Given the description of an element on the screen output the (x, y) to click on. 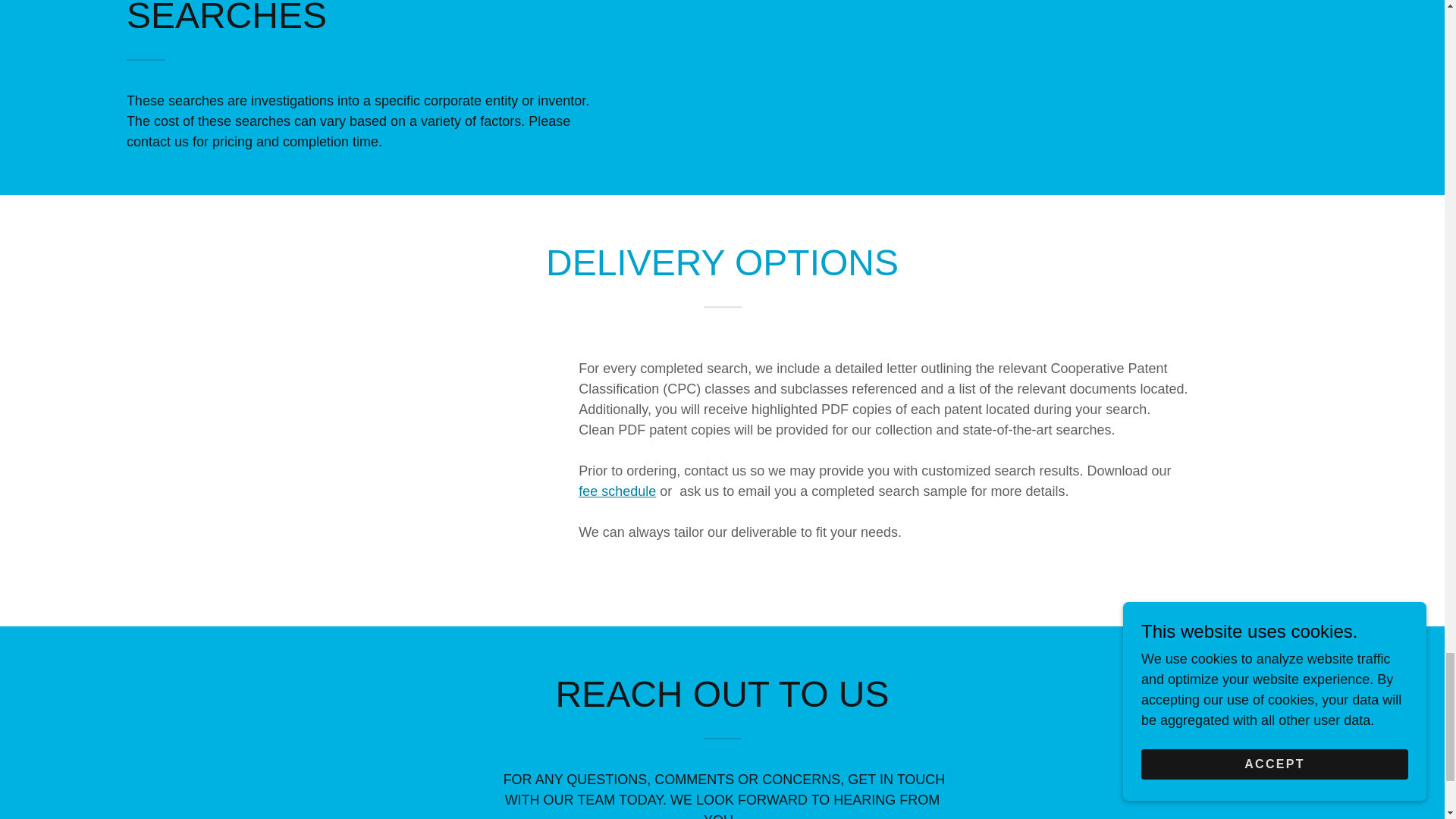
fee schedule (617, 491)
